Given the description of an element on the screen output the (x, y) to click on. 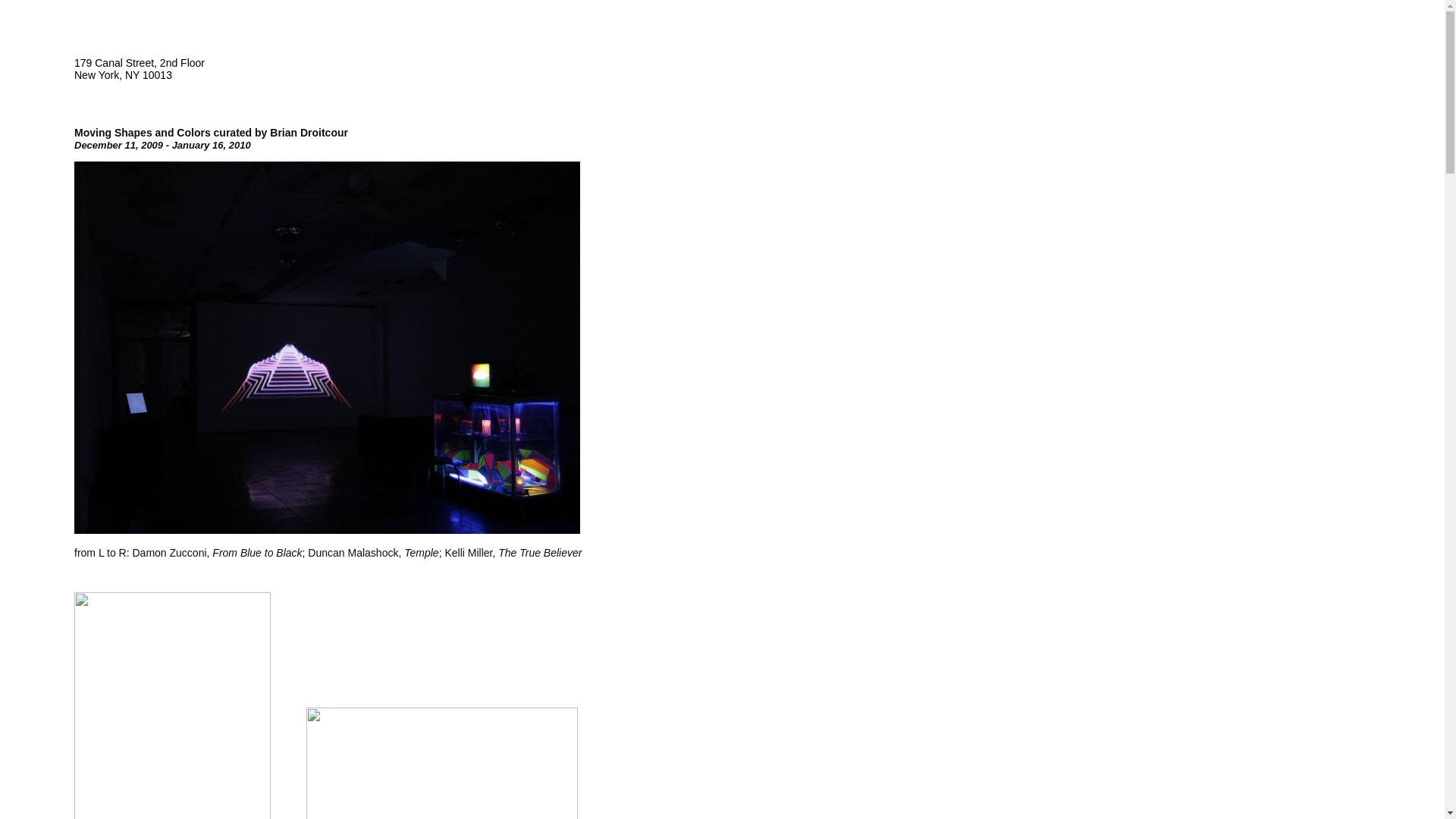
179 Canal Street, 2nd Floor
New York, NY 10013 Element type: text (139, 68)
